Given the description of an element on the screen output the (x, y) to click on. 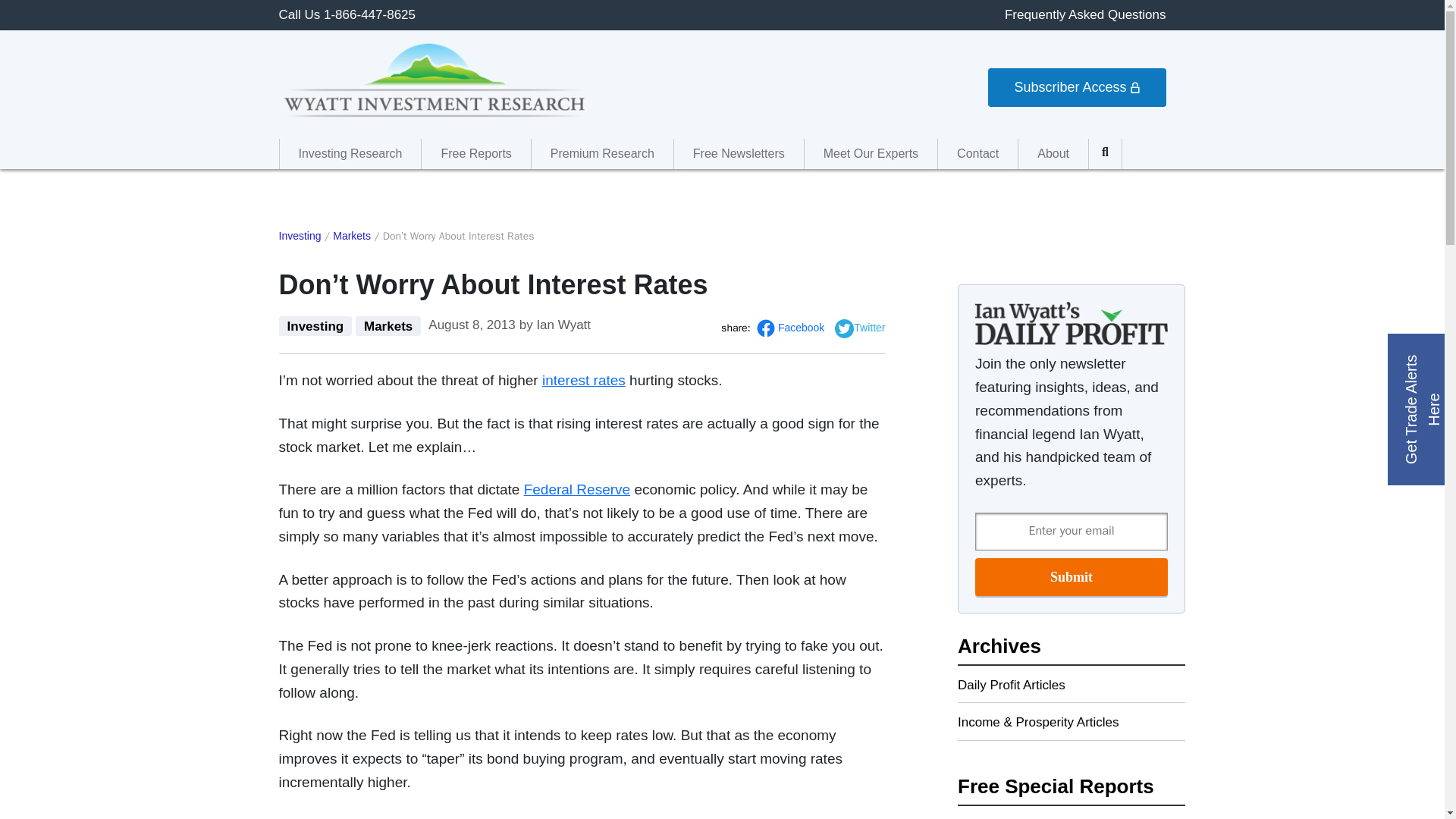
Investing (300, 236)
Facebook (790, 327)
Premium Research (602, 153)
Call Us 1-866-447-8625 (347, 14)
Ian Wyatt (563, 325)
Twitter (859, 327)
Frequently Asked Questions (1085, 14)
Click to share this post on Twitter (859, 327)
Free Newsletters (738, 153)
Markets (387, 325)
Contact (977, 153)
About (1052, 153)
Submit (1071, 576)
twitter sharing button (843, 328)
